Given the description of an element on the screen output the (x, y) to click on. 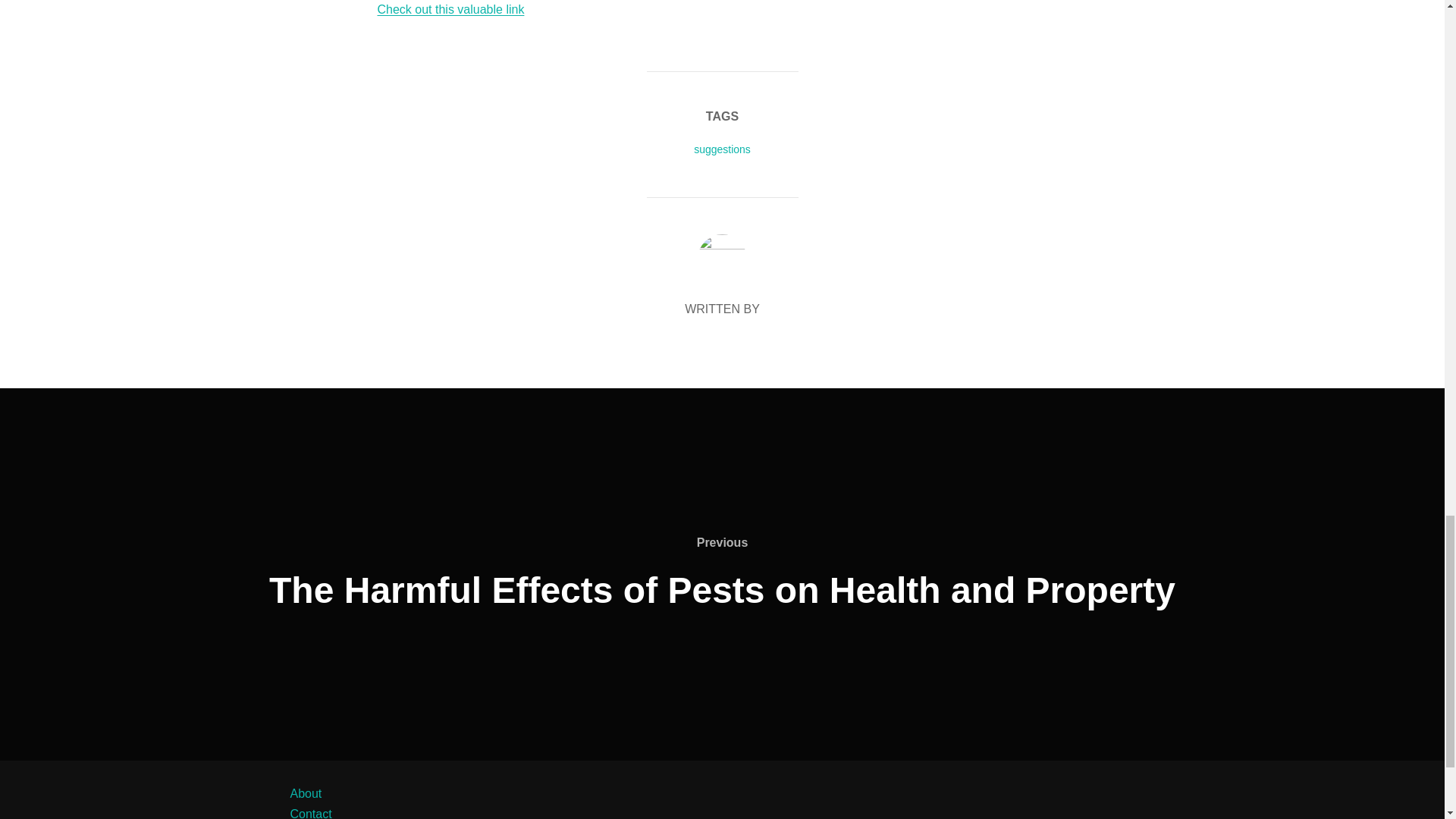
Check out this valuable link (450, 9)
About (305, 793)
suggestions (722, 149)
Contact (310, 813)
